Given the description of an element on the screen output the (x, y) to click on. 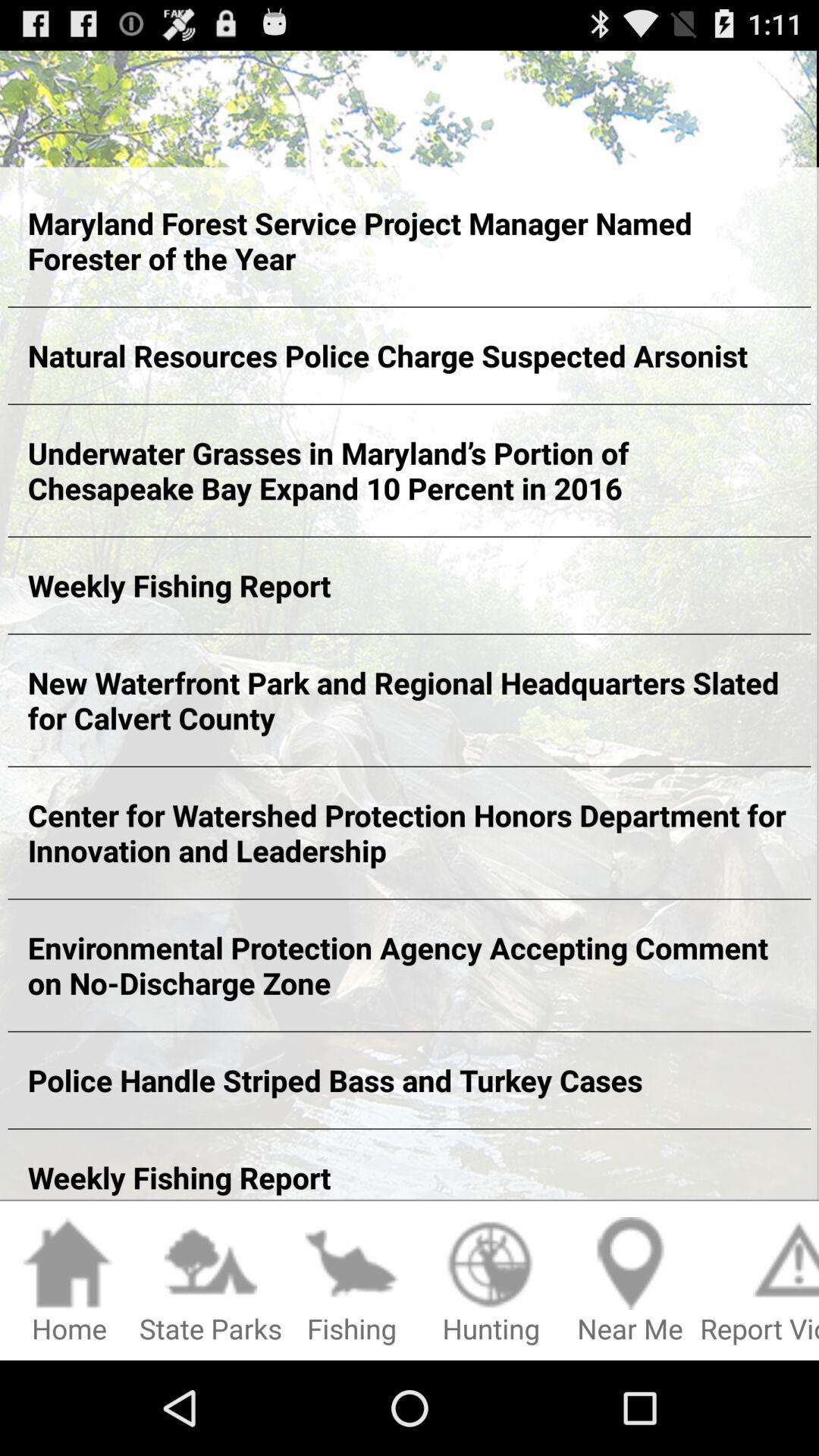
select the text fishing along with image (351, 1282)
